Given the description of an element on the screen output the (x, y) to click on. 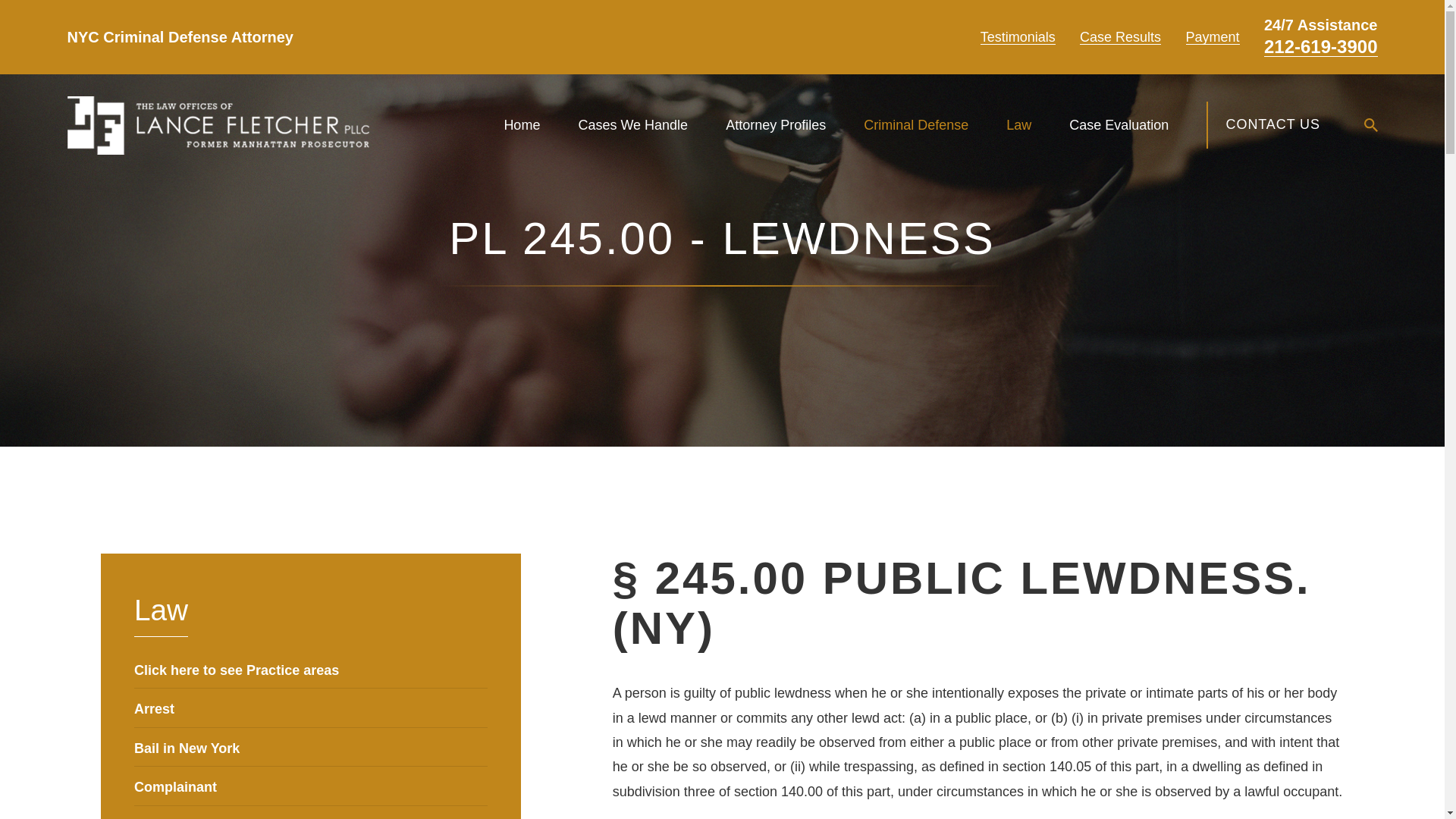
212-619-3900 (1320, 46)
Testimonials (1017, 37)
Cases We Handle (632, 124)
Case Results (1120, 37)
Payment (1213, 37)
Attorney Profiles (775, 124)
Criminal Defense (915, 124)
Home (217, 125)
